Given the description of an element on the screen output the (x, y) to click on. 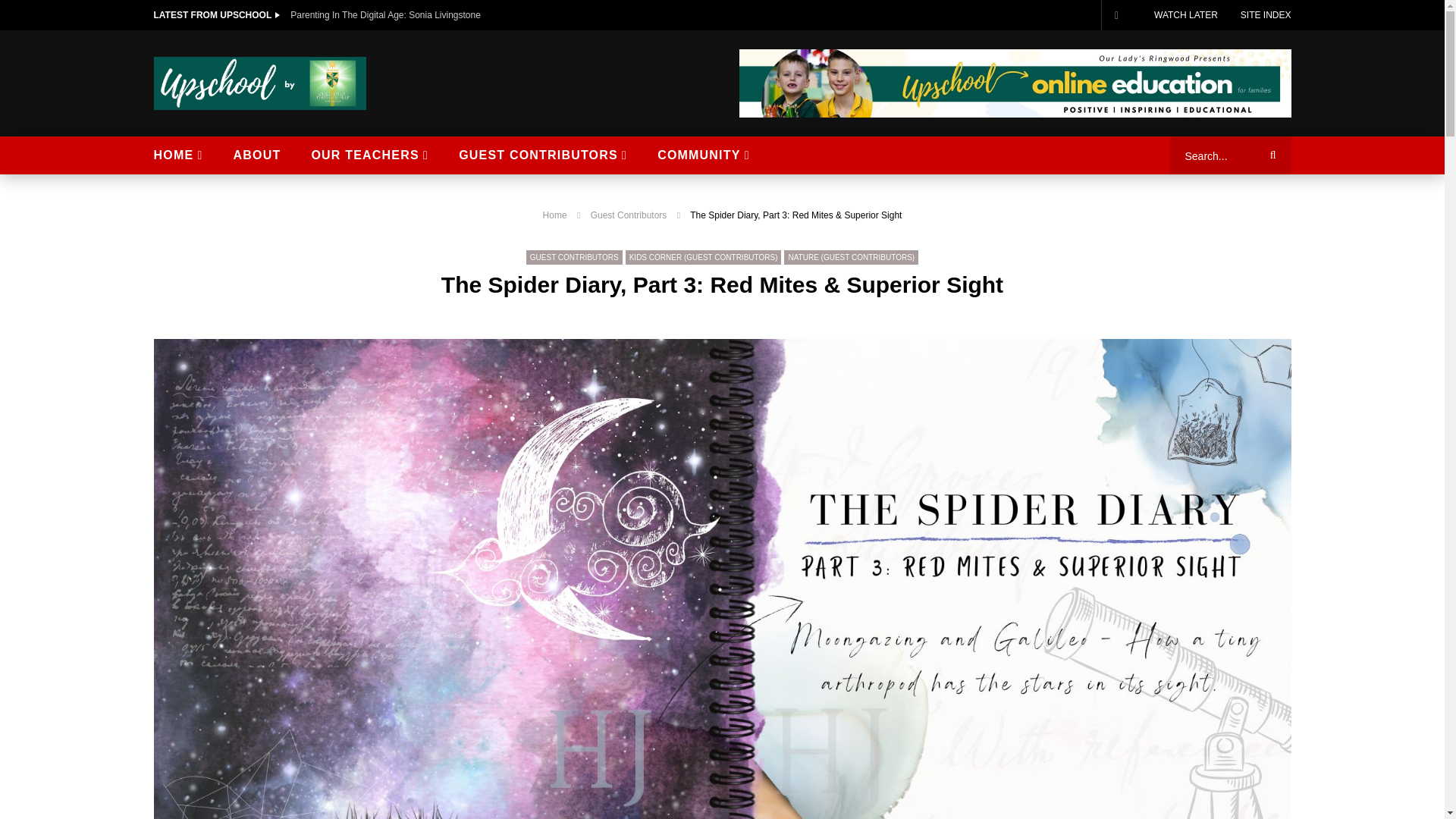
GUEST CONTRIBUTORS (543, 155)
HOME (177, 155)
Upschool (258, 82)
COMMUNITY (703, 155)
Watch later (1115, 15)
Search (1270, 155)
Parenting In The Digital Age: Sonia Livingstone (384, 14)
SITE INDEX (1265, 15)
WATCH LATER (1185, 15)
OUR TEACHERS (369, 155)
ABOUT (257, 155)
Home (555, 214)
Parenting In The Digital Age: Sonia Livingstone (384, 14)
Search (1270, 155)
Guest Contributors (574, 257)
